Given the description of an element on the screen output the (x, y) to click on. 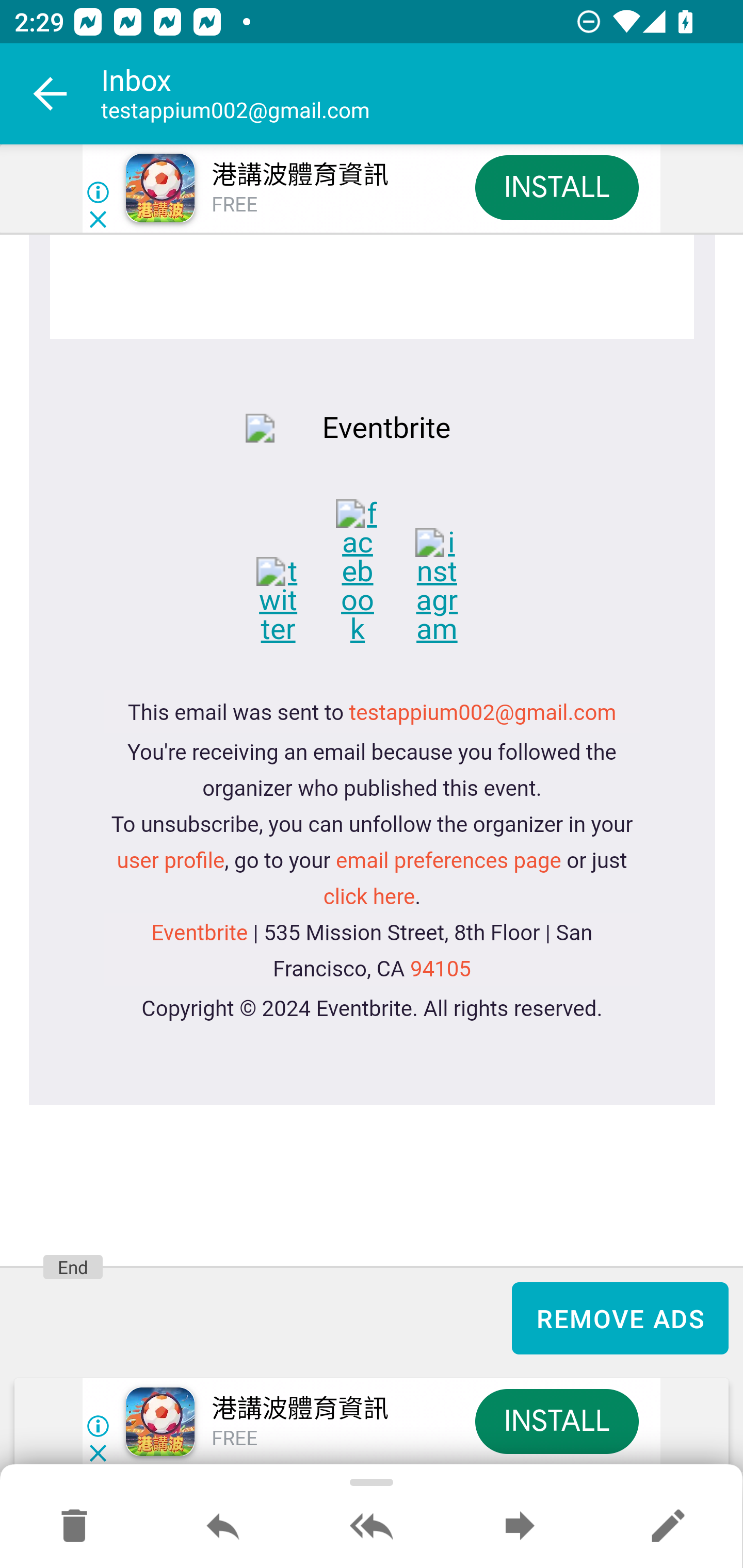
Navigate up (50, 93)
Inbox testappium002@gmail.com (422, 93)
INSTALL (556, 187)
港講波體育資訊 (299, 175)
FREE (234, 204)
Eventbrite's Facebook facebook (372, 573)
Eventbrite's Instagram instagram (450, 587)
Eventbrite's Twitter twitter (292, 602)
testappium002@gmail.com (482, 714)
user profile (170, 863)
email preferences page (448, 863)
click here (368, 899)
Eventbrite (198, 935)
94105 (439, 971)
REMOVE ADS (619, 1318)
INSTALL (556, 1421)
港講波體育資訊 (299, 1409)
FREE (234, 1438)
Move to Deleted (74, 1527)
Reply (222, 1527)
Reply all (371, 1527)
Forward (519, 1527)
Reply as new (667, 1527)
